Given the description of an element on the screen output the (x, y) to click on. 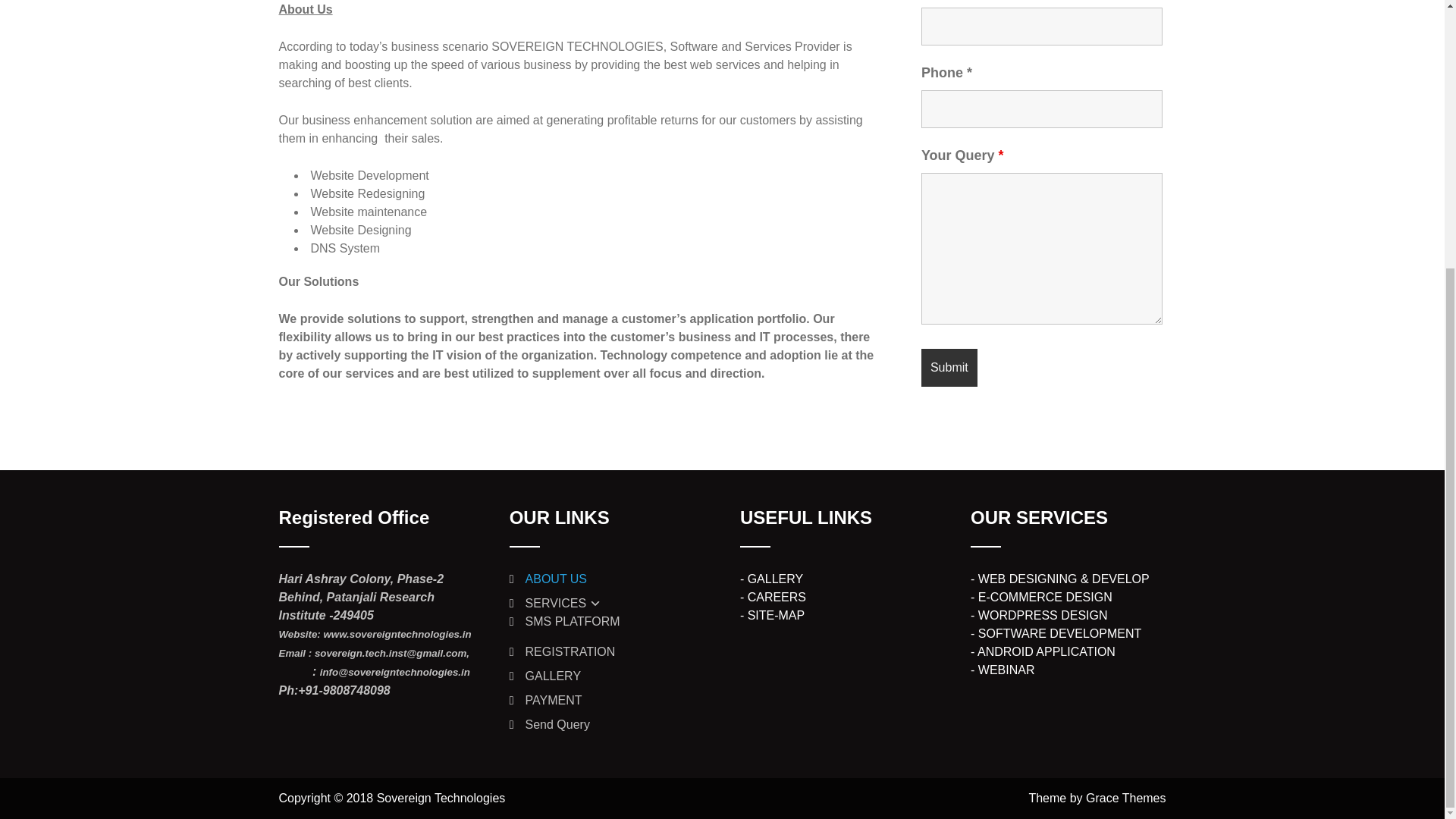
Submit (948, 367)
- CAREERS (772, 596)
- GALLERY (771, 578)
REGISTRATION (570, 651)
- SOFTWARE DEVELOPMENT (1056, 633)
- E-COMMERCE DESIGN (1041, 596)
ABOUT US (556, 578)
Send Query (557, 724)
PAYMENT (553, 699)
GALLERY (552, 675)
- SITE-MAP (772, 615)
- WORDPRESS DESIGN (1038, 615)
SERVICES (563, 603)
SMS PLATFORM (572, 621)
